Given the description of an element on the screen output the (x, y) to click on. 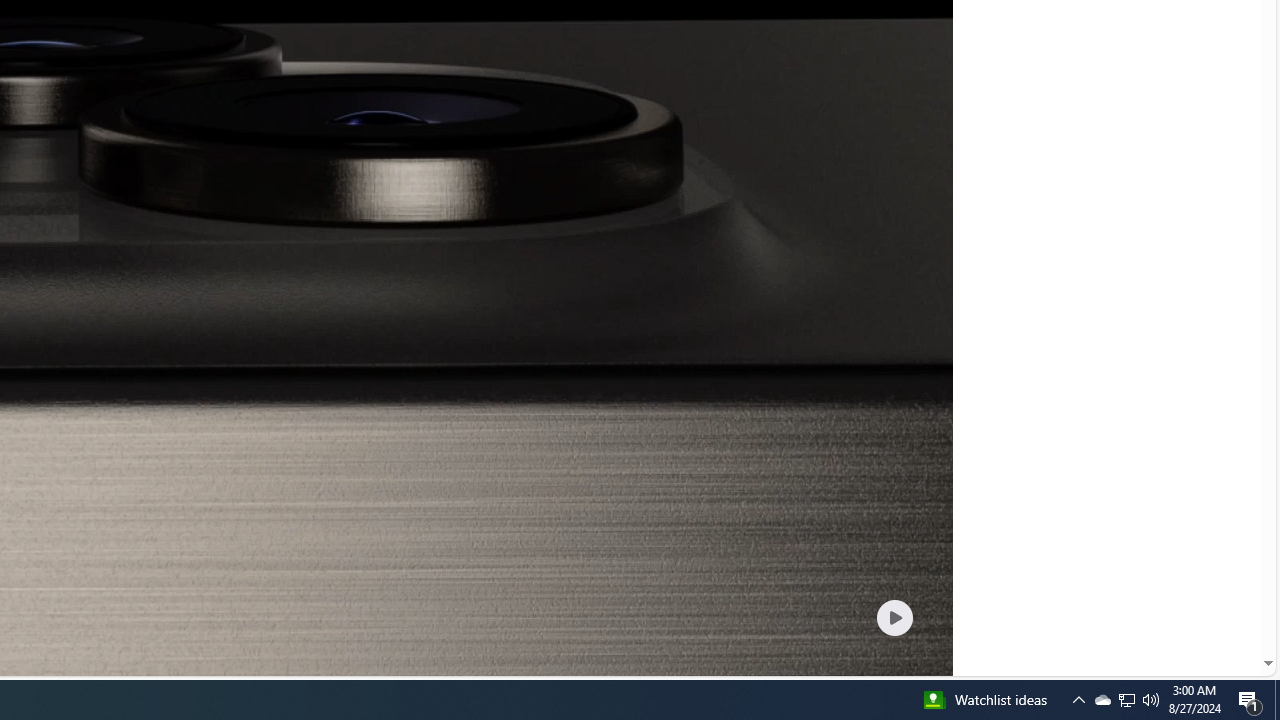
Play welcome animation video (893, 617)
Class: control-centered-small-icon (894, 617)
